Given the description of an element on the screen output the (x, y) to click on. 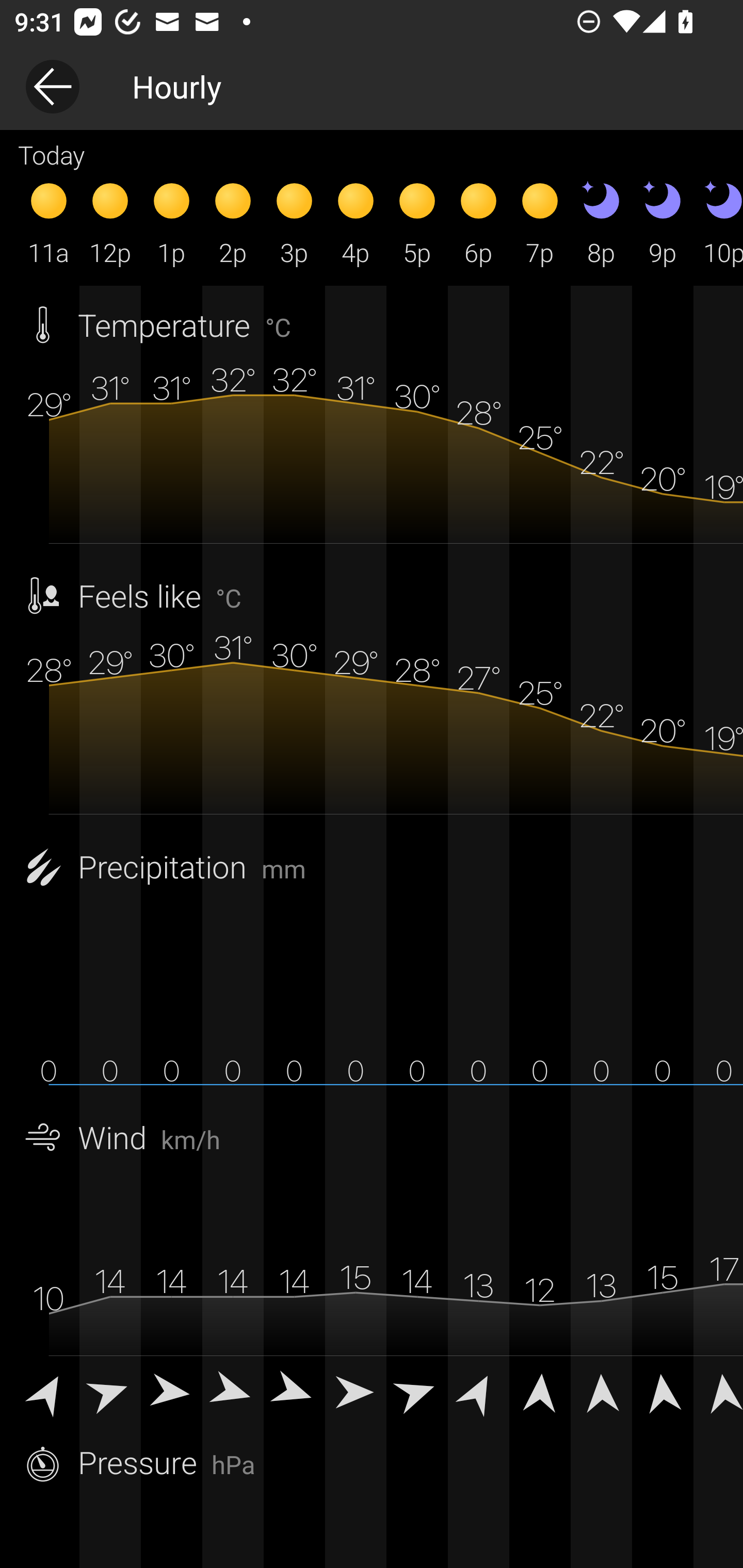
11a (48, 222)
12p (110, 222)
1p (171, 222)
2p (232, 222)
3p (294, 222)
4p (355, 222)
5p (417, 222)
6p (478, 222)
7p (539, 222)
8p (601, 222)
9p (662, 222)
10p (718, 222)
 (48, 1391)
 (110, 1391)
 (171, 1391)
 (232, 1391)
 (294, 1391)
 (355, 1391)
 (417, 1391)
 (478, 1391)
 (539, 1391)
 (601, 1391)
 (662, 1391)
 (718, 1391)
